Given the description of an element on the screen output the (x, y) to click on. 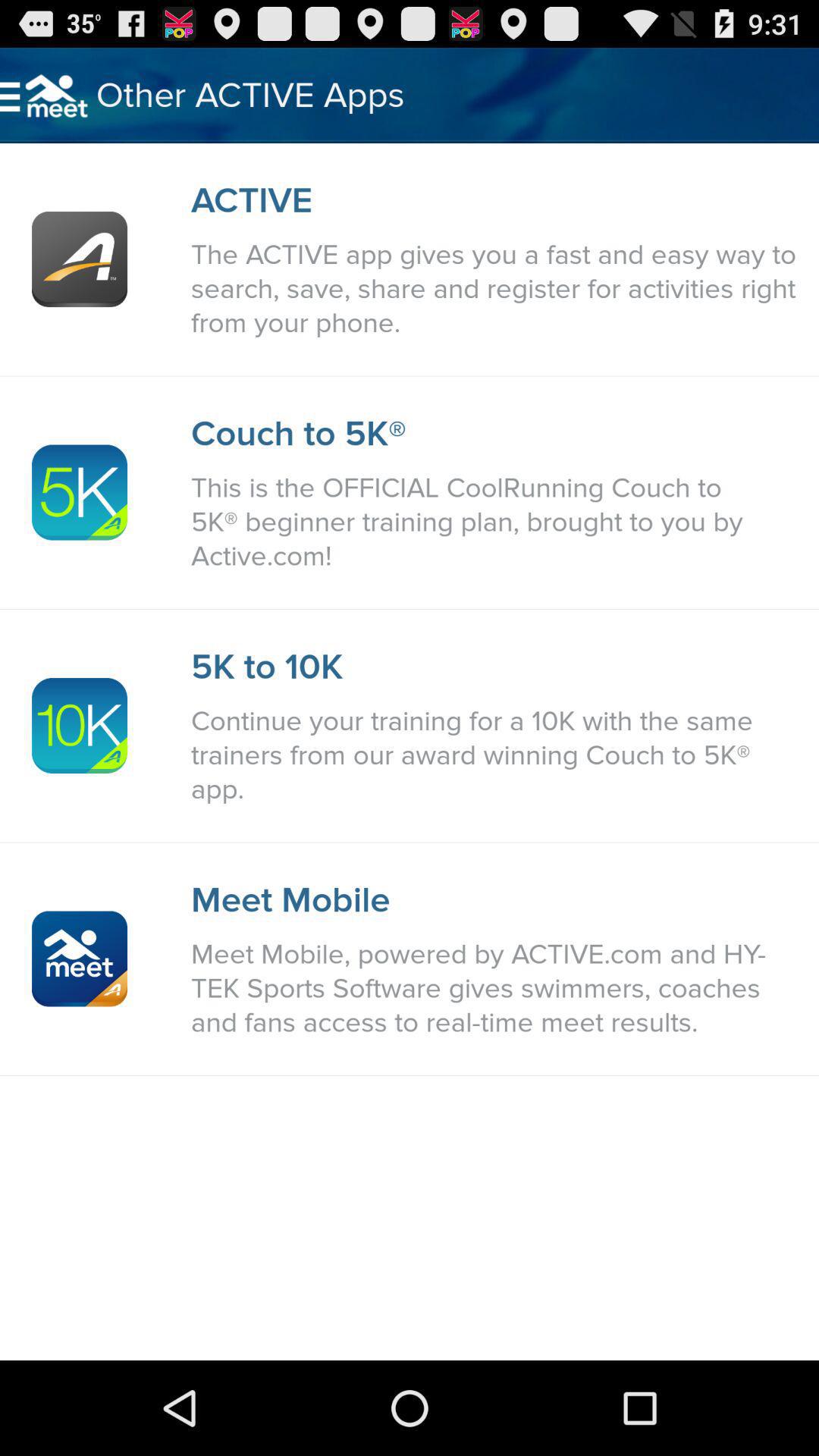
select icon above the 5k to 10k item (497, 522)
